Given the description of an element on the screen output the (x, y) to click on. 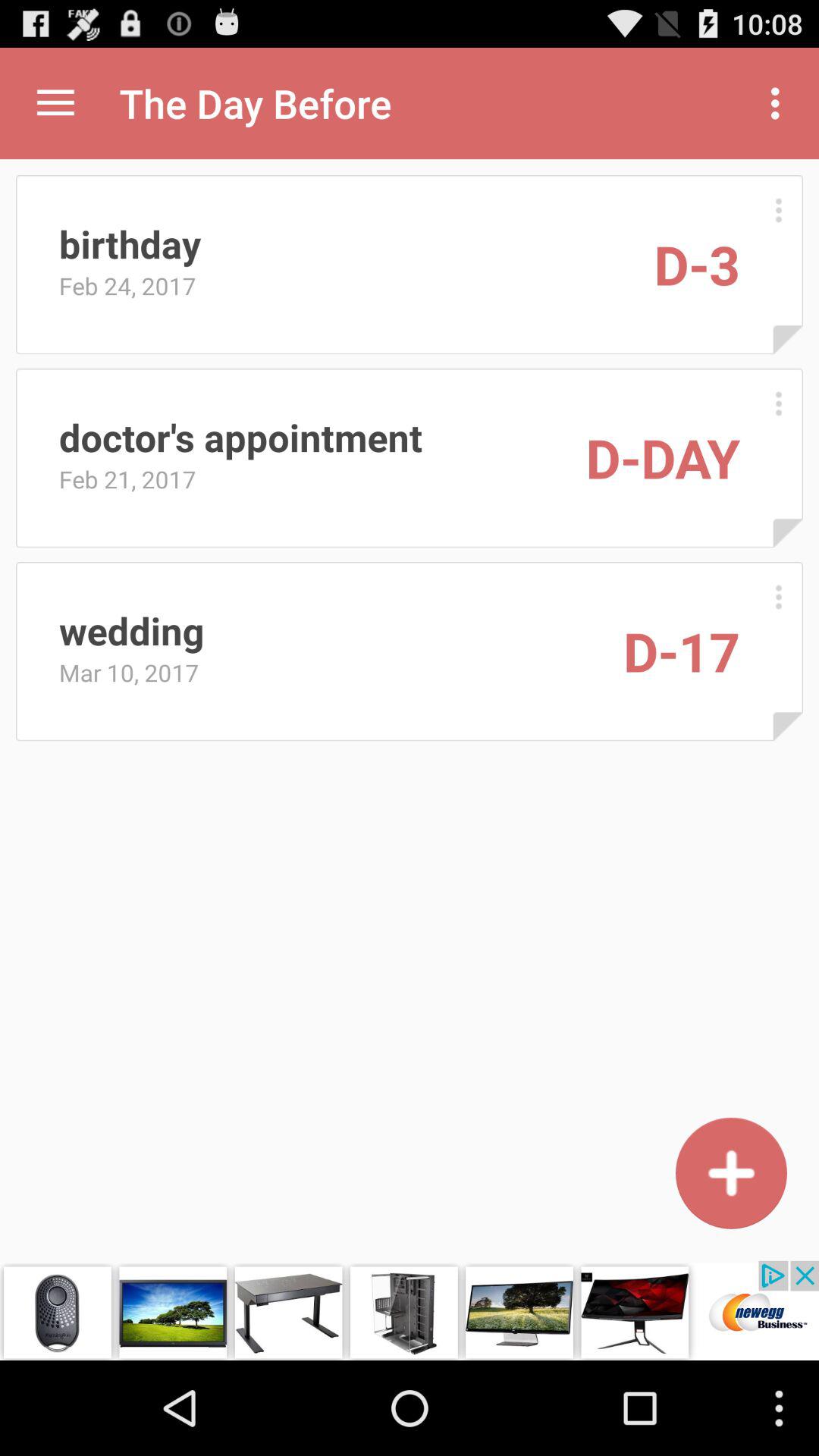
open other actions for this record (777, 596)
